Given the description of an element on the screen output the (x, y) to click on. 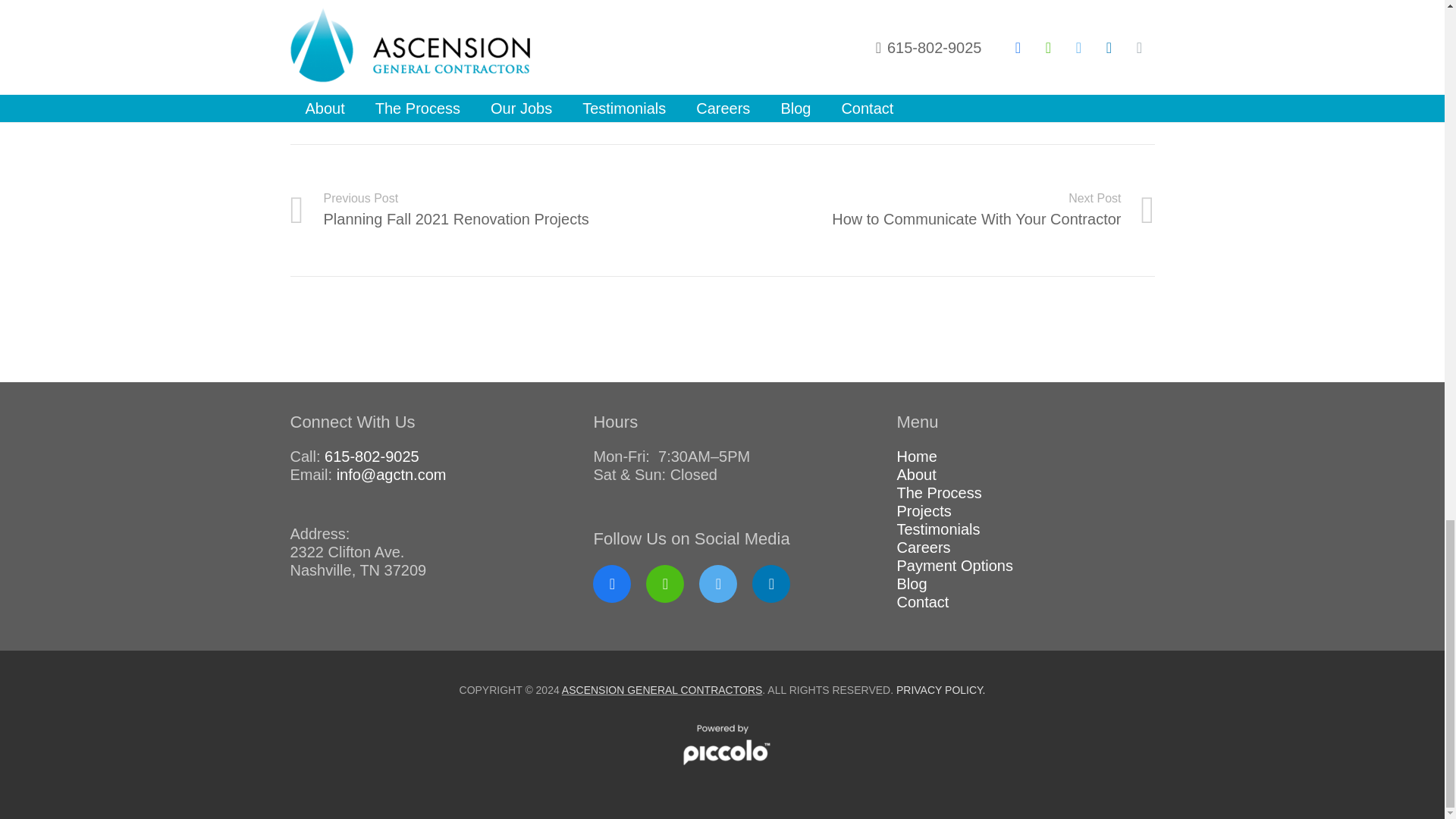
Home (916, 456)
Careers (923, 547)
Ascension General Contractors (754, 71)
Payment Options (953, 565)
PRIVACY POLICY. (505, 209)
general contractors (940, 689)
The Process (662, 689)
Testimonials (938, 492)
Blog (937, 528)
Give us a call today (911, 583)
Projects (1060, 89)
Facebook (923, 510)
About (611, 583)
Planning Fall 2021 Renovation Projects (916, 474)
